Given the description of an element on the screen output the (x, y) to click on. 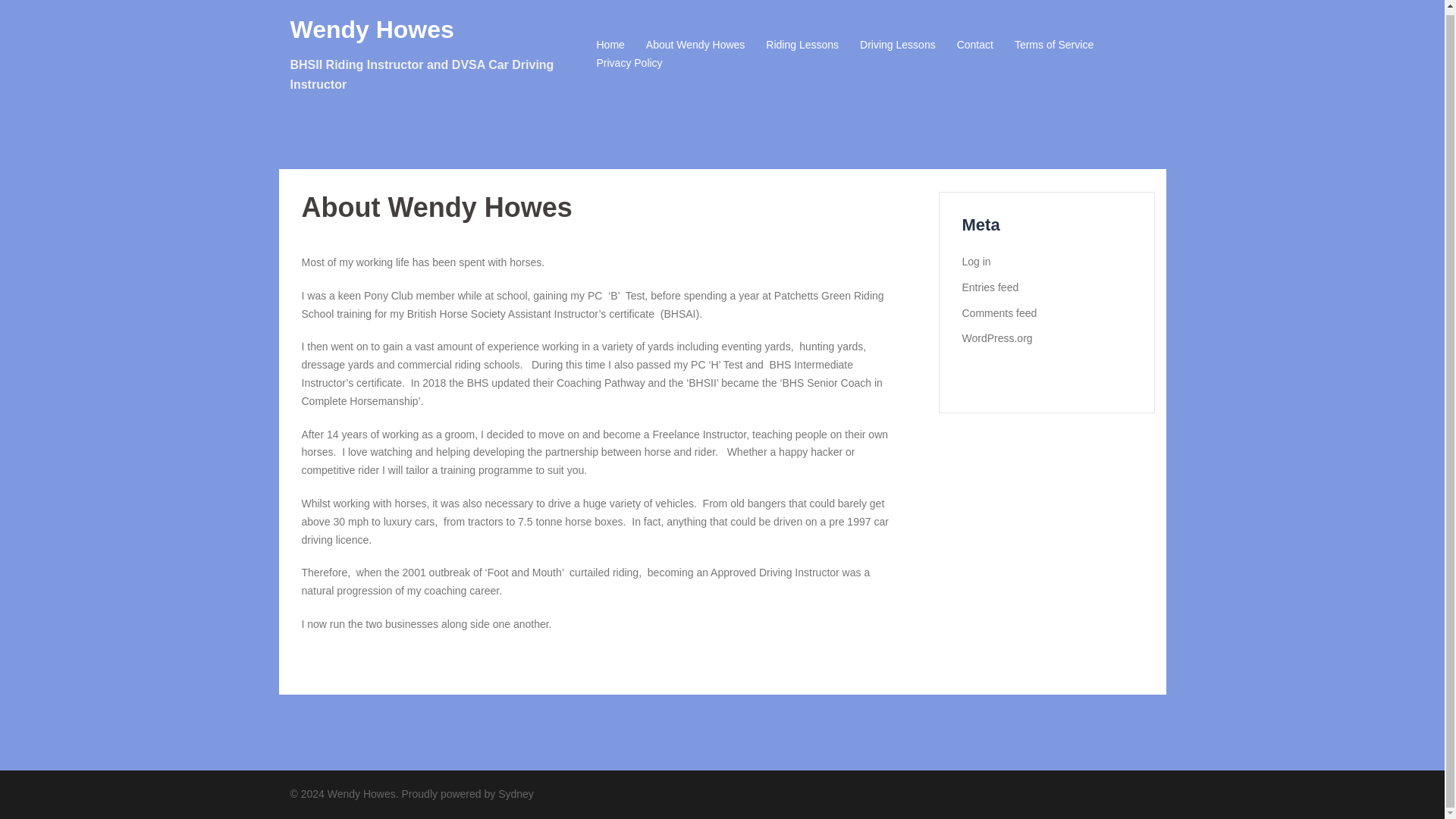
Contact (974, 41)
WordPress.org (996, 337)
Comments feed (998, 313)
Privacy Policy (628, 59)
Log in (975, 261)
Driving Lessons (898, 41)
Home (609, 41)
Sydney (515, 793)
Riding Lessons (801, 41)
Wendy Howes (370, 25)
Entries feed (988, 287)
About Wendy Howes (695, 41)
Terms of Service (1053, 41)
